Given the description of an element on the screen output the (x, y) to click on. 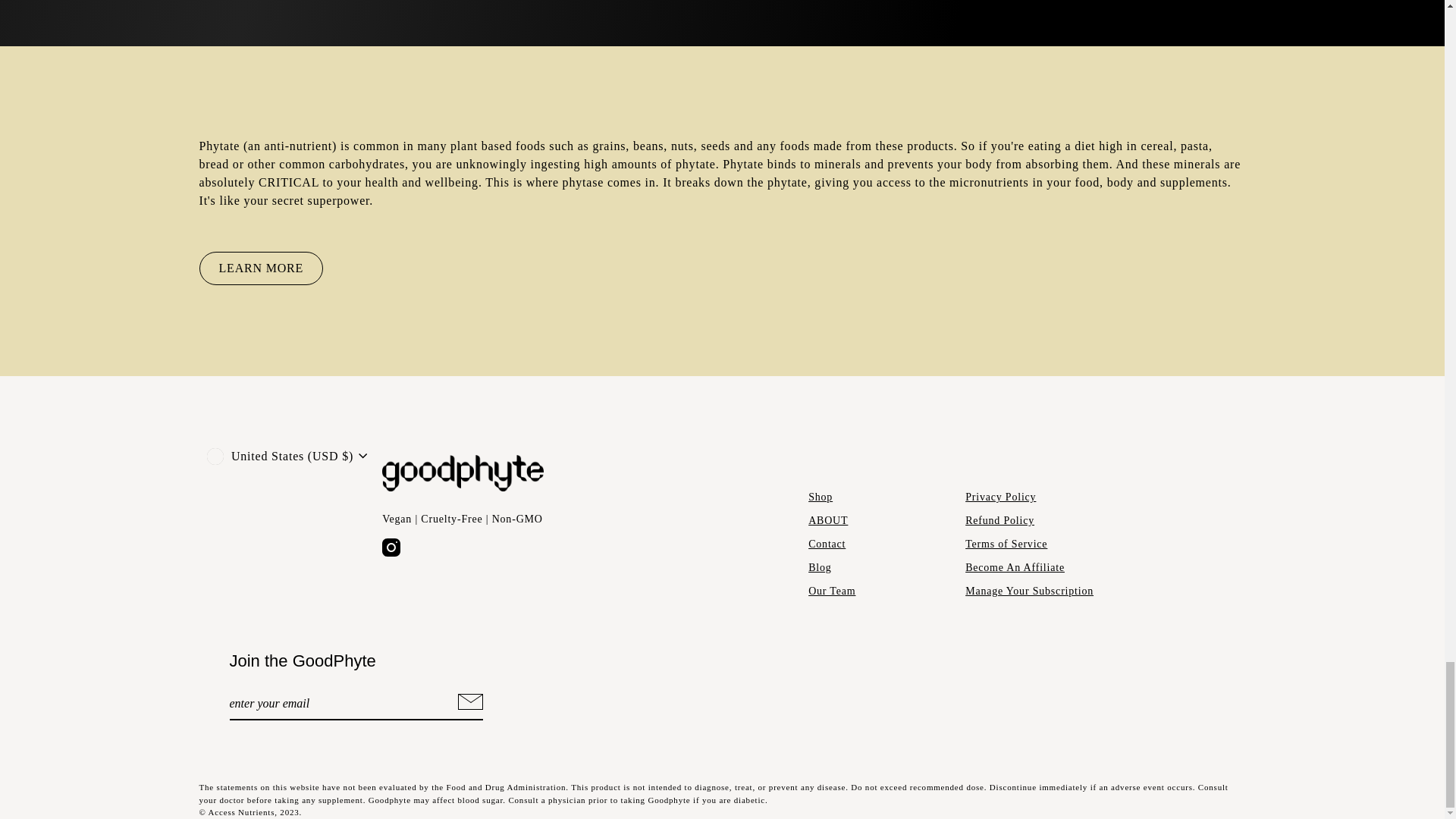
GoodPhyte on Instagram (390, 548)
LEARN MORE (260, 268)
Subscribe (467, 704)
